Given the description of an element on the screen output the (x, y) to click on. 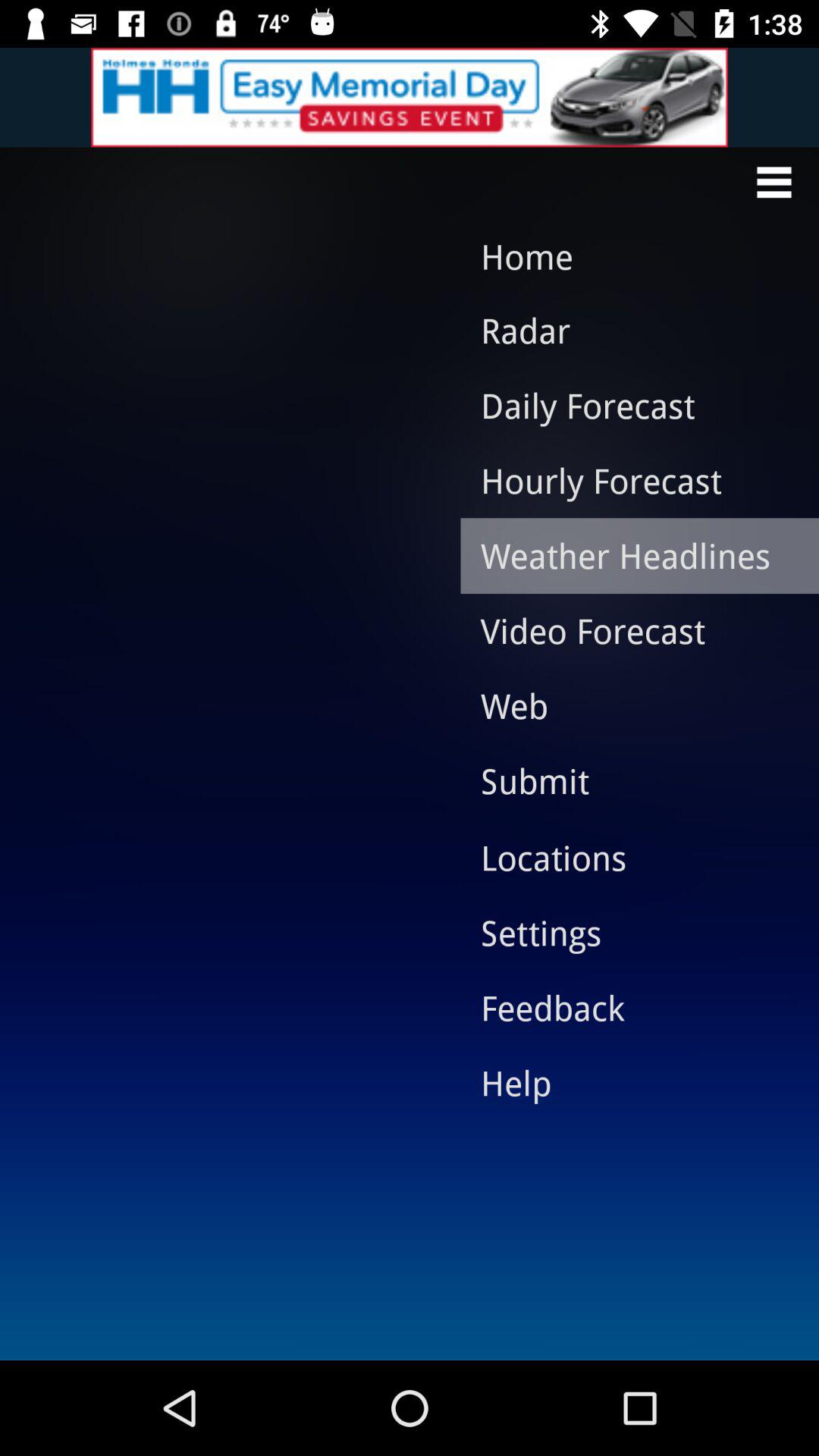
select the item below weather headlines icon (627, 630)
